Given the description of an element on the screen output the (x, y) to click on. 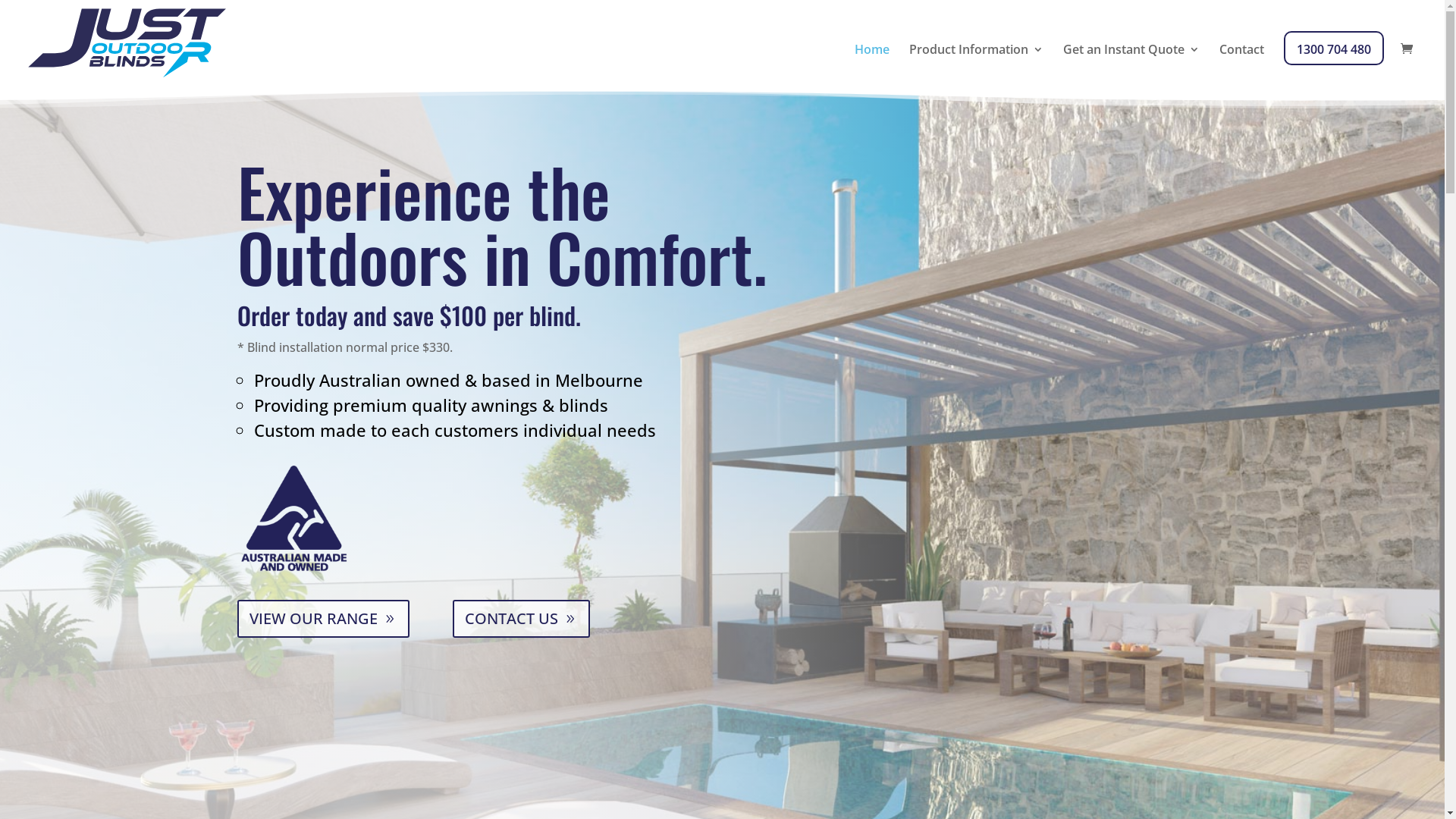
Get an Instant Quote Element type: text (1131, 64)
Contact Element type: text (1241, 64)
1300 704 480 Element type: text (1333, 64)
CONTACT US Element type: text (520, 618)
Home Element type: text (871, 64)
Product Information Element type: text (976, 64)
VIEW OUR RANGE Element type: text (322, 618)
australian-made-and-owned-logo Element type: hover (293, 517)
